Given the description of an element on the screen output the (x, y) to click on. 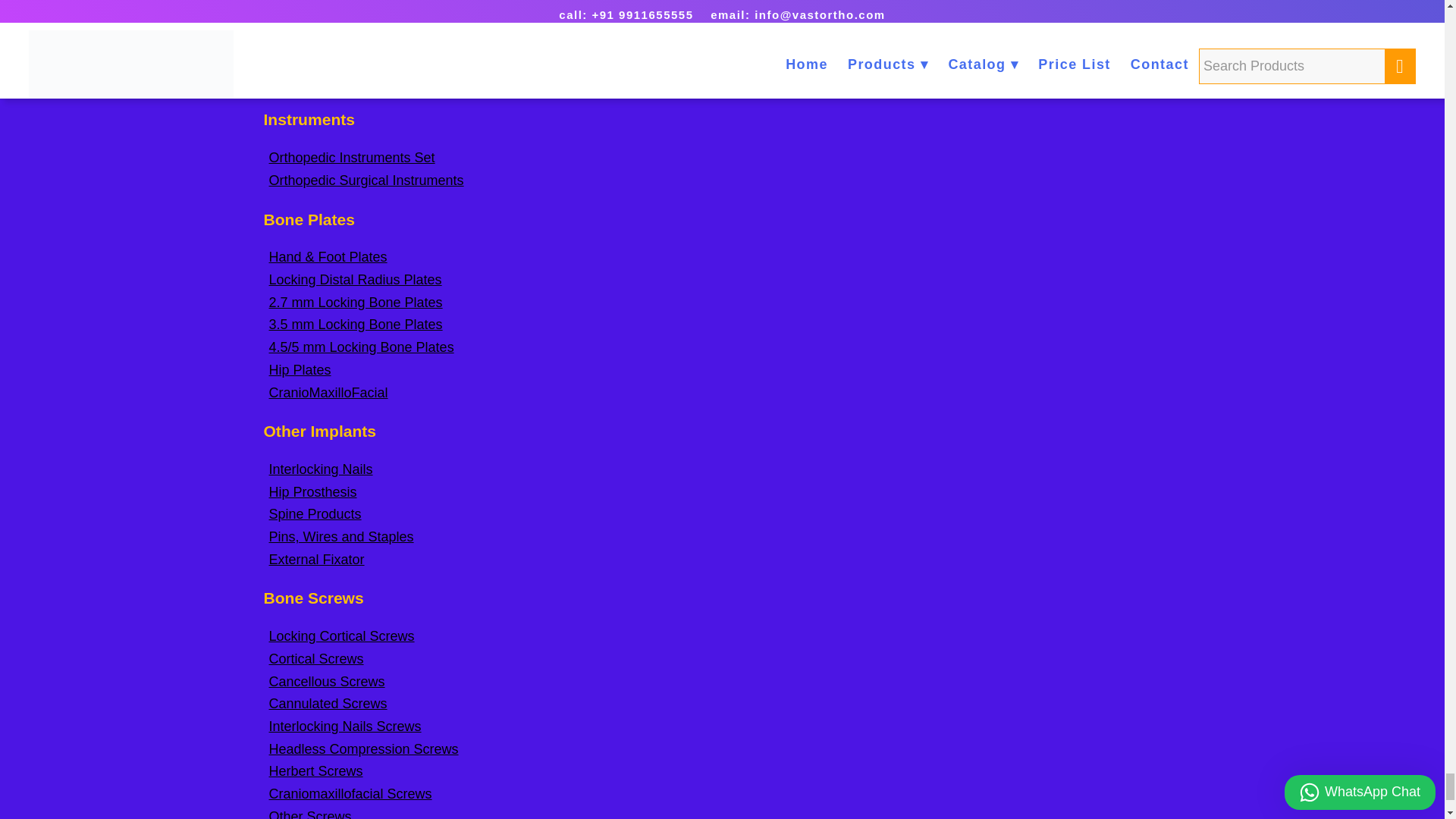
Locking Distal Radius Plates (354, 279)
3.5 mm Locking Bone Plates (354, 324)
2.7 mm Locking Bone Plates (354, 302)
Orthopedic Instruments Set (350, 157)
Orthopedic Surgical Instruments (365, 180)
